Given the description of an element on the screen output the (x, y) to click on. 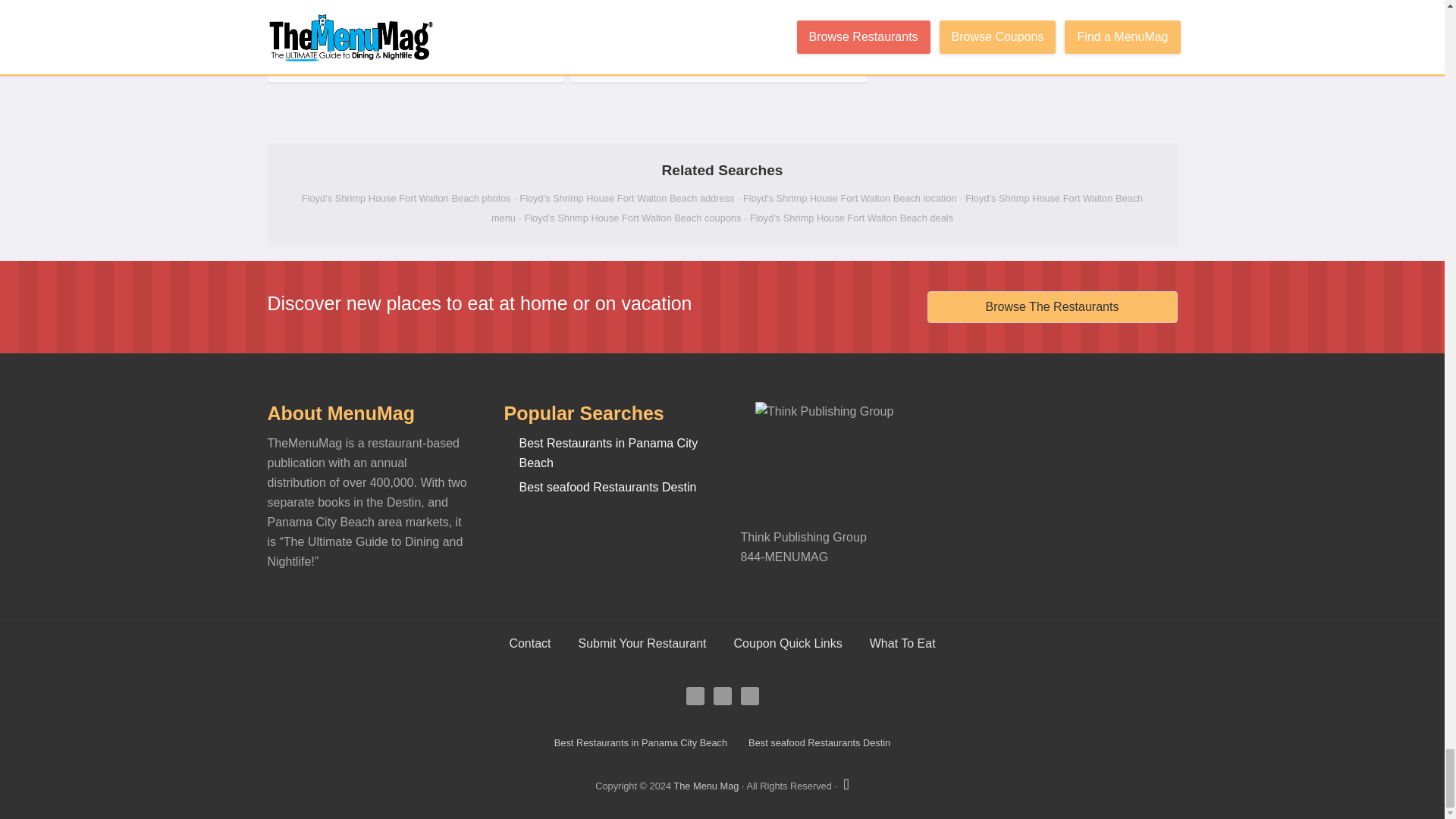
Best seafood Restaurants Destin (819, 742)
destin late night pizza restaurants (607, 452)
The Menu Mag (705, 785)
destin late night pizza restaurants (640, 742)
Best seafood Restaurants Destin (606, 486)
